Given the description of an element on the screen output the (x, y) to click on. 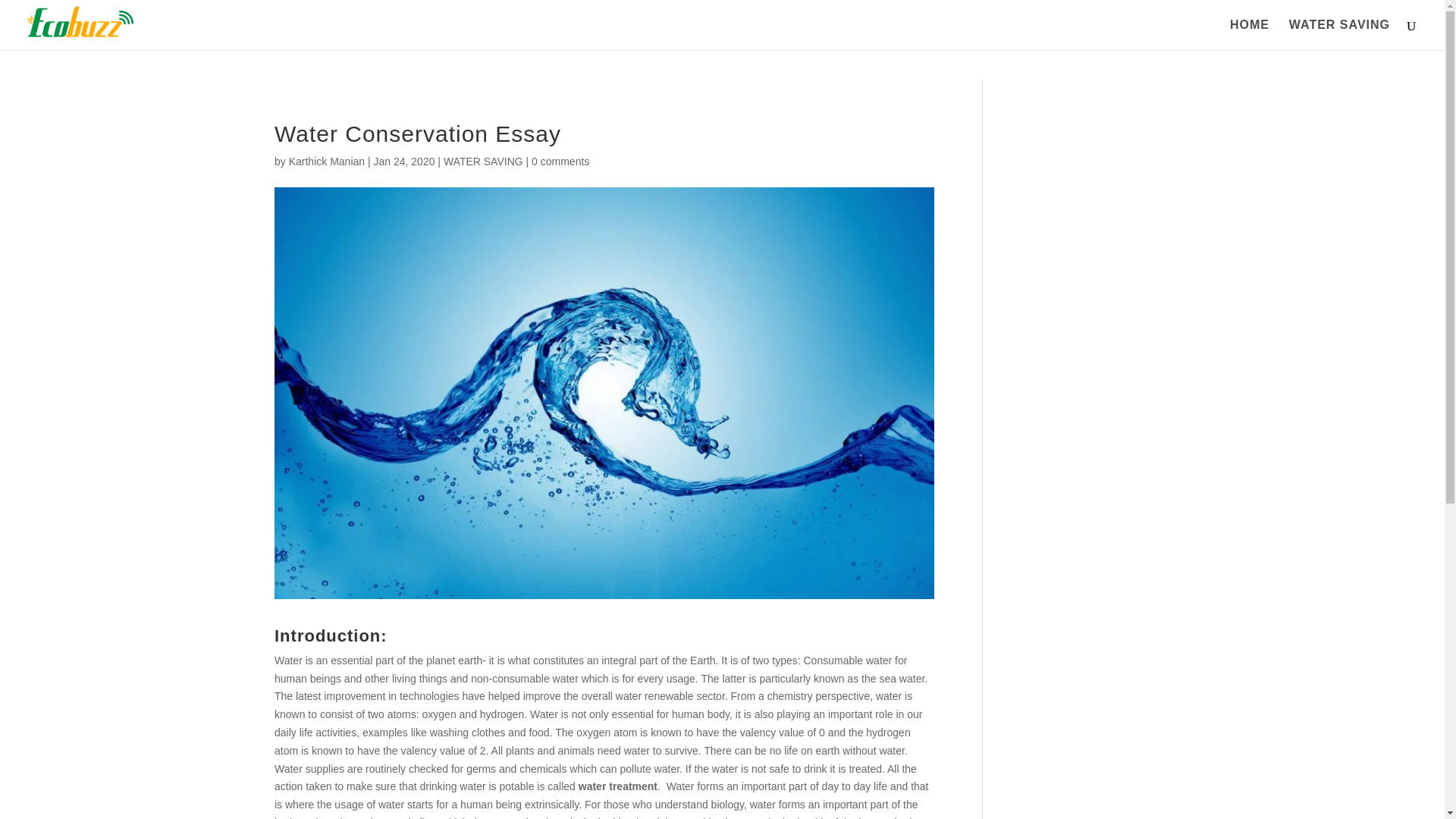
HOME (1249, 34)
Posts by Karthick Manian (326, 161)
Karthick Manian (326, 161)
WATER SAVING (1339, 34)
0 comments (560, 161)
WATER SAVING (483, 161)
